Given the description of an element on the screen output the (x, y) to click on. 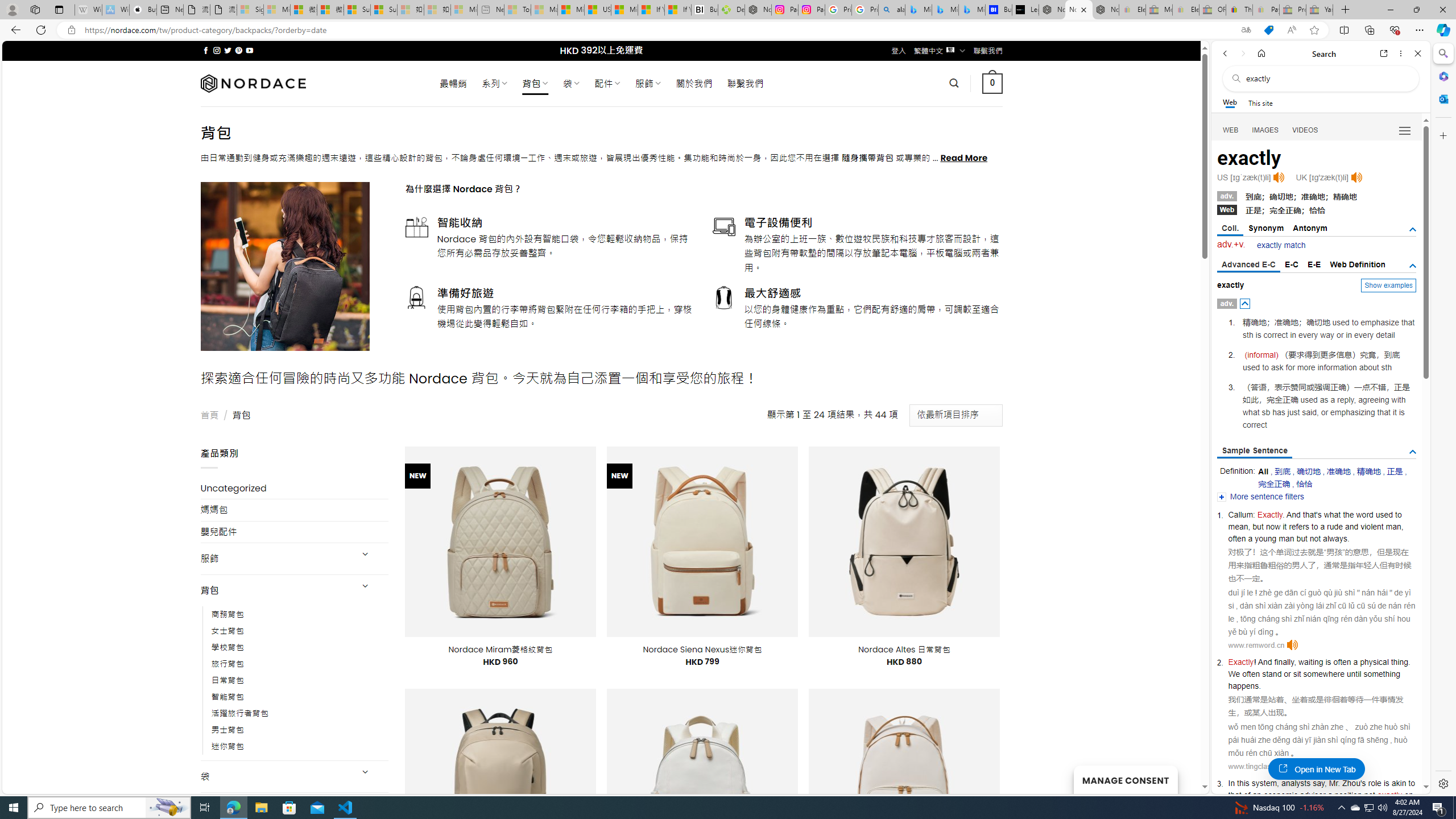
refers (1298, 526)
exactly match (1281, 244)
mean (1237, 526)
